Given the description of an element on the screen output the (x, y) to click on. 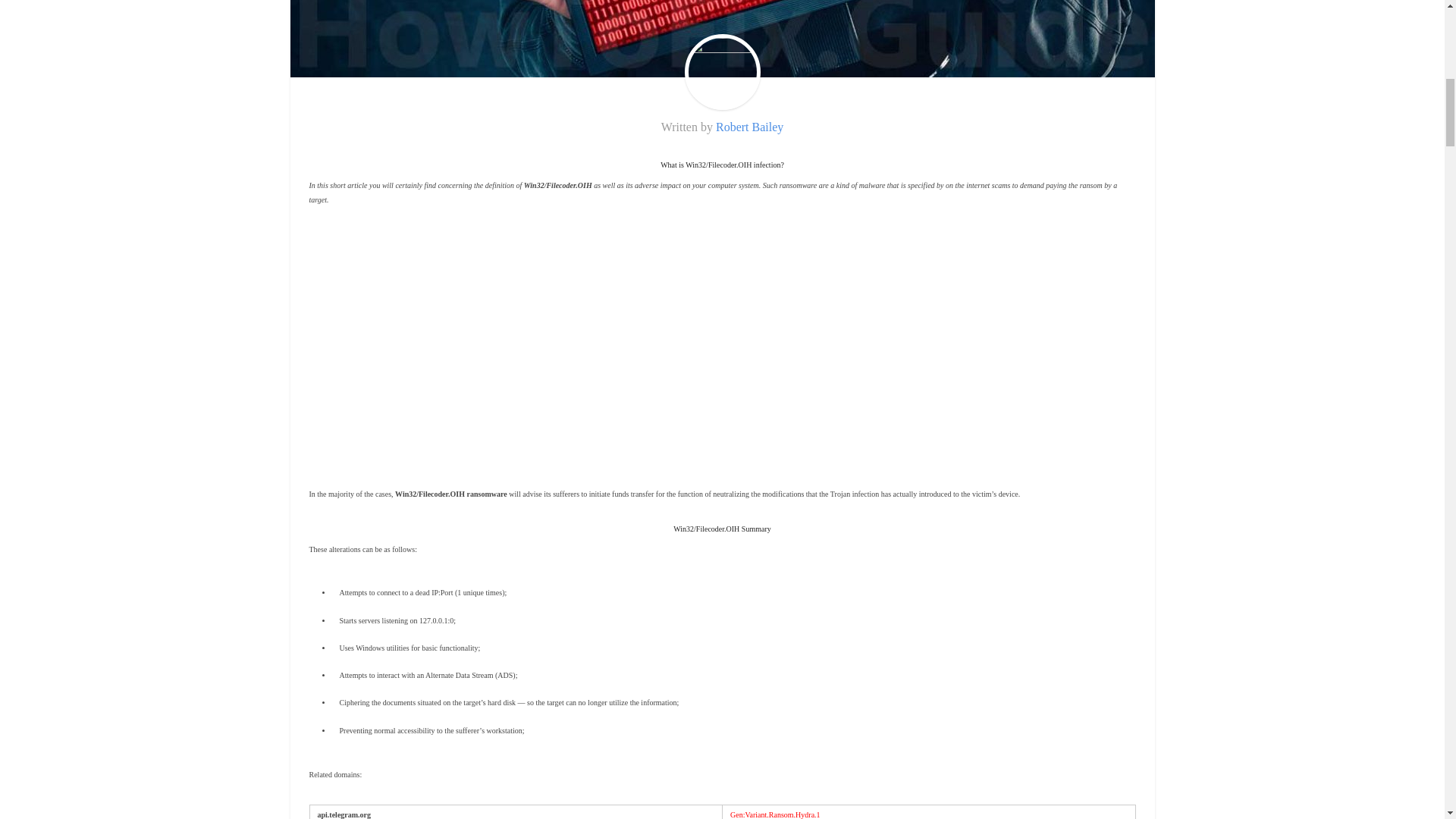
Robert Bailey (749, 126)
